Given the description of an element on the screen output the (x, y) to click on. 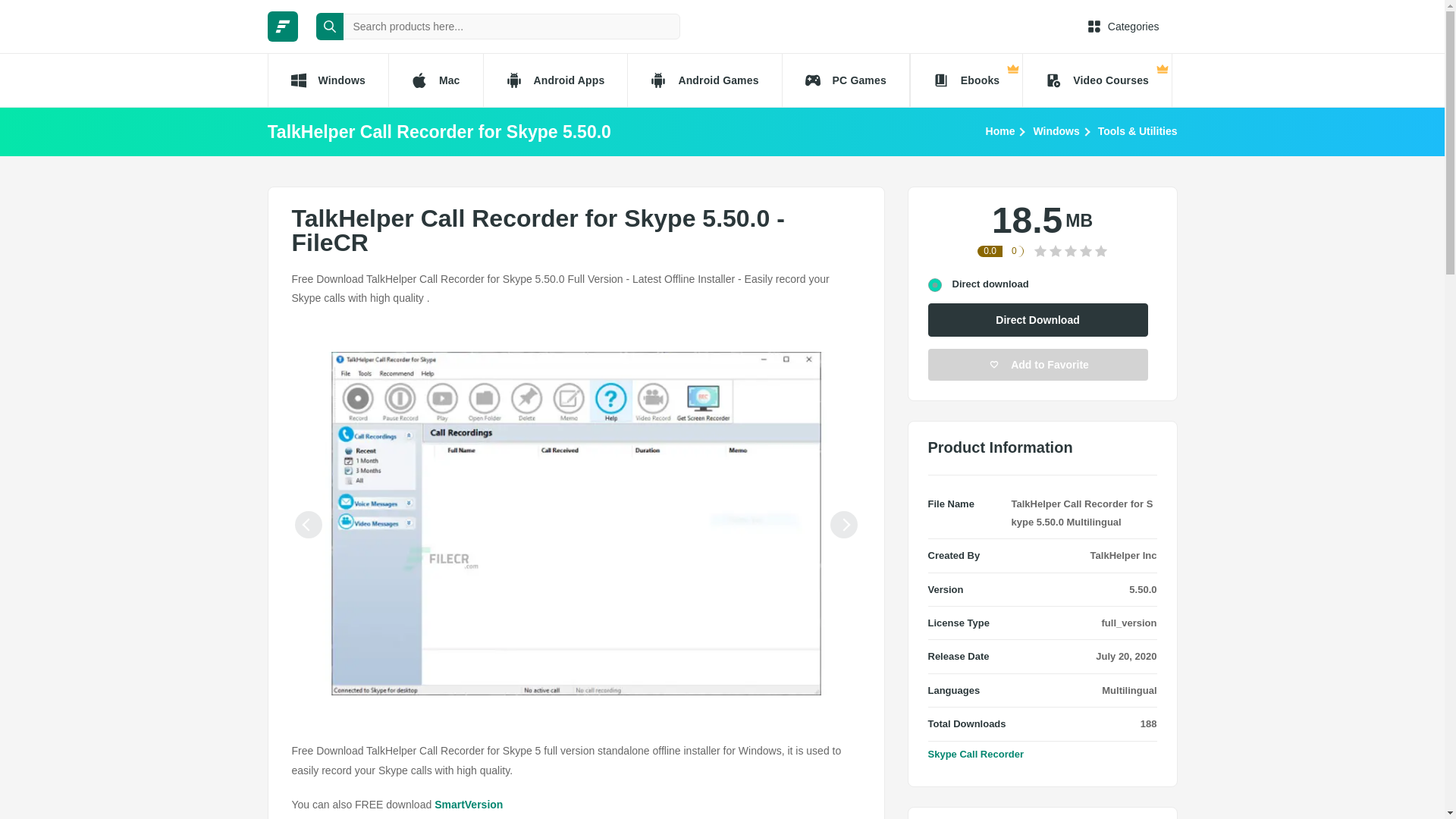
TalkHelper Inc (1123, 555)
Windows (1055, 131)
SmartVersion (467, 804)
Android Games (703, 80)
Android Apps (555, 80)
Home (999, 131)
Mac (435, 80)
PC Games (845, 80)
Skype Call Recorder (975, 754)
Direct Download (1038, 319)
